Given the description of an element on the screen output the (x, y) to click on. 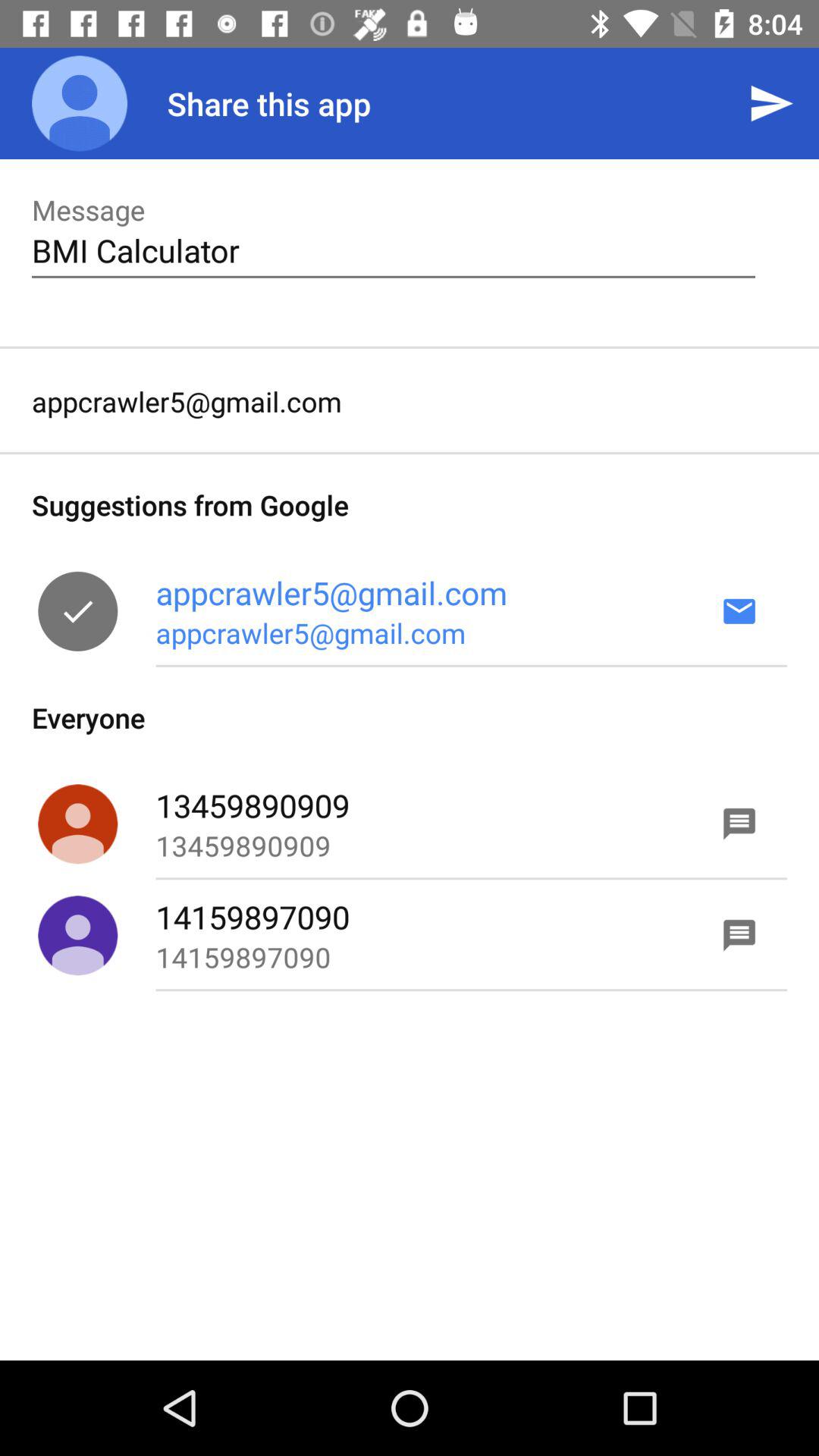
select icon to the left of share this app app (79, 103)
